Given the description of an element on the screen output the (x, y) to click on. 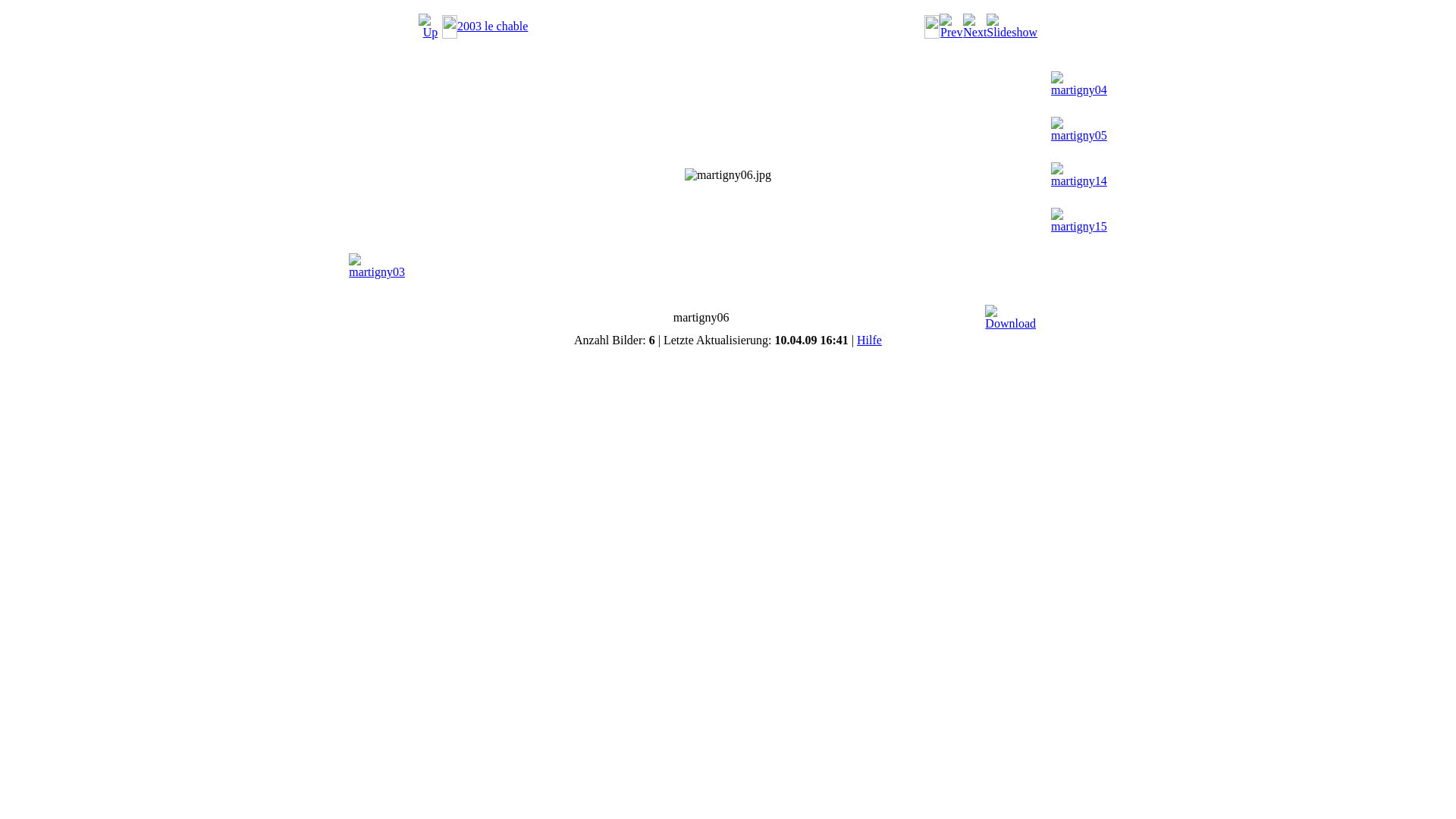
 martigny04  Element type: hover (1079, 84)
 martigny03  Element type: hover (376, 266)
 Bild speichern  Element type: hover (1010, 317)
 martigny15  Element type: hover (1079, 220)
2003 le chable Element type: text (492, 25)
 Index  Element type: hover (430, 26)
 martigny14  Element type: hover (1079, 175)
 Voriges Bild  Element type: hover (951, 26)
 martigny05  Element type: hover (1079, 129)
Hilfe Element type: text (868, 339)
